Given the description of an element on the screen output the (x, y) to click on. 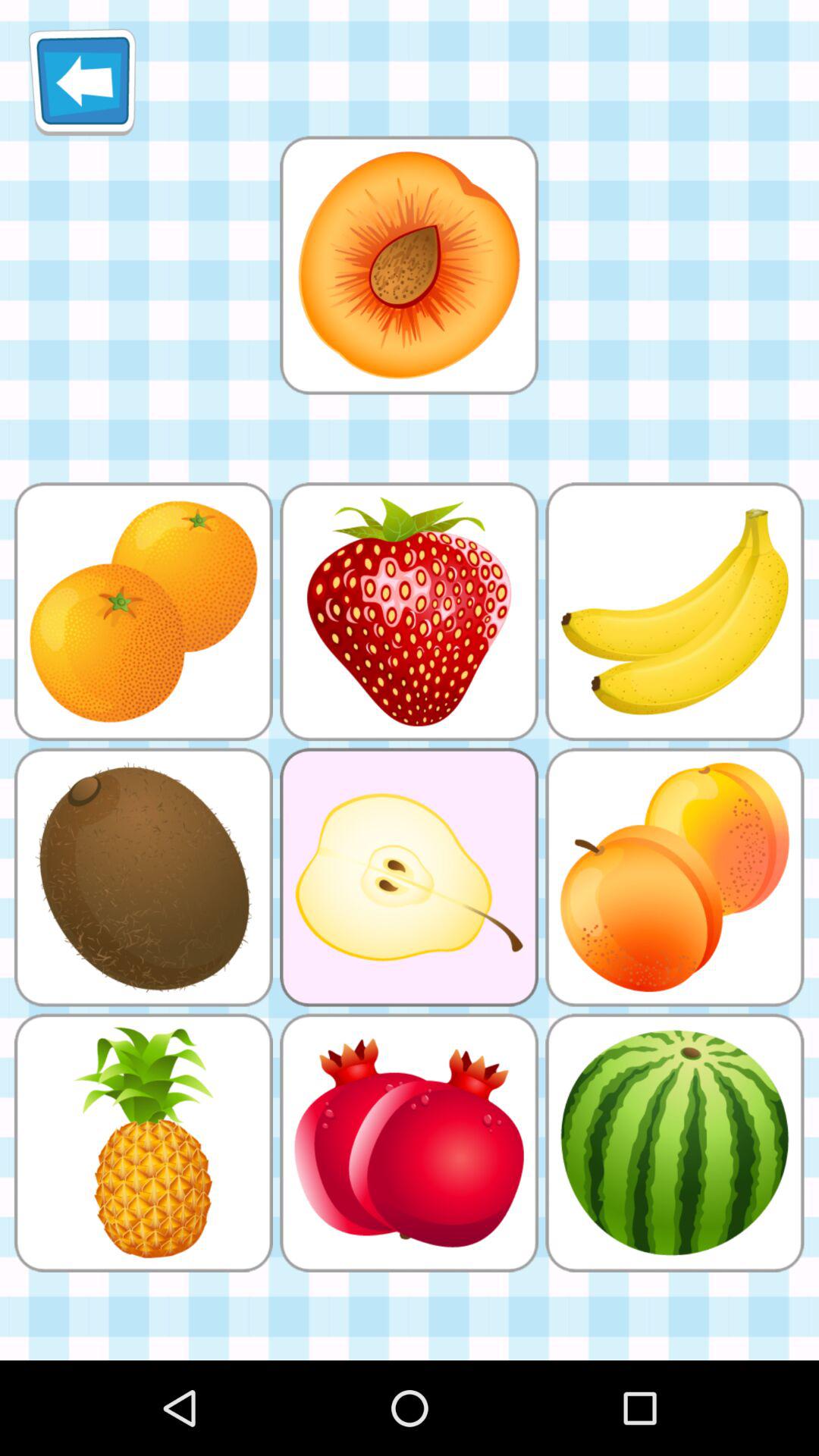
display the image to find (409, 265)
